Given the description of an element on the screen output the (x, y) to click on. 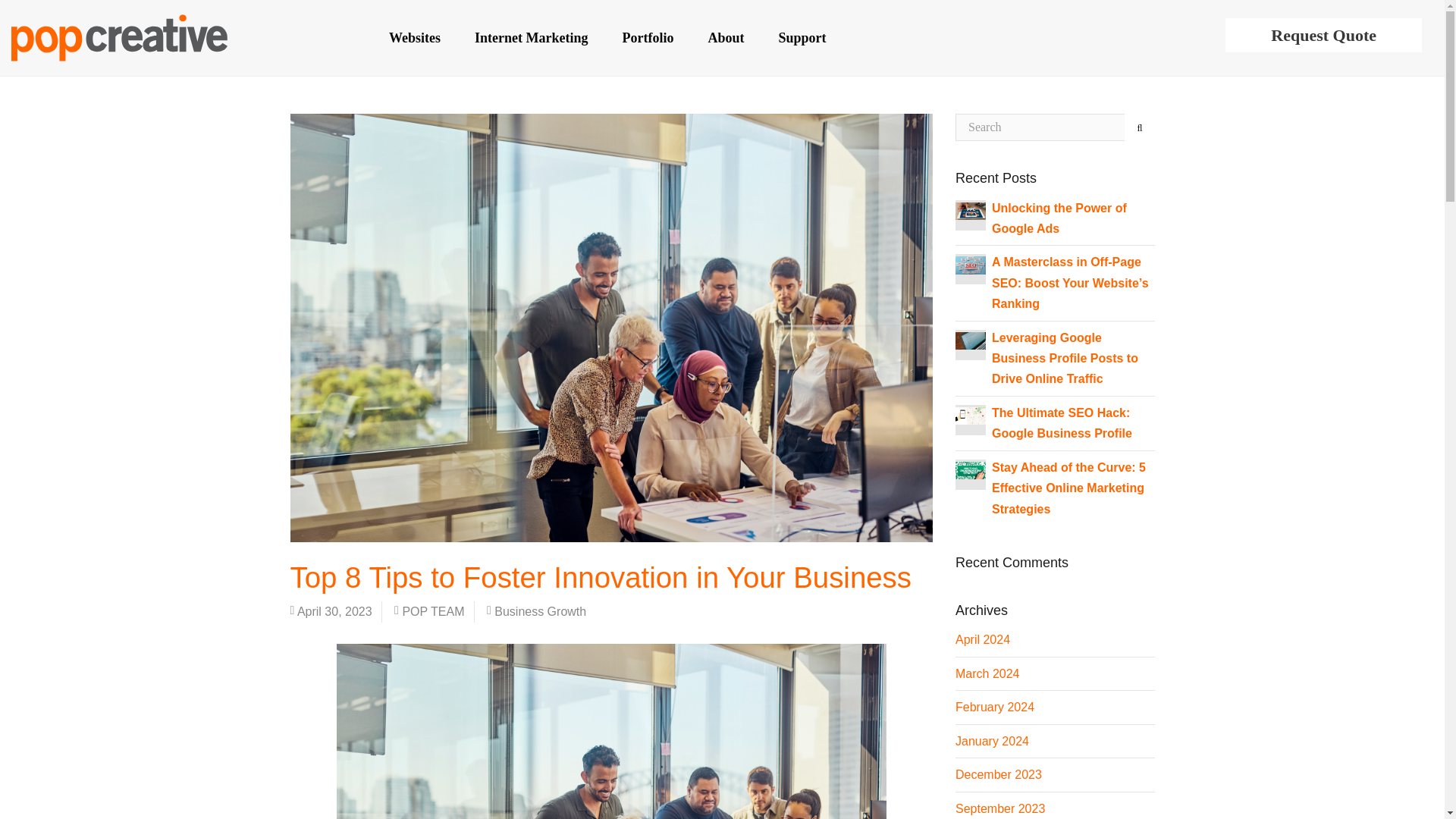
March 2024 (987, 673)
Unlocking the Power of Google Ads (1058, 218)
Internet Marketing (531, 38)
The Ultimate SEO Hack: Google Business Profile (970, 414)
Support (801, 38)
Portfolio (647, 38)
December 2023 (998, 774)
Unlocking the Power of Google Ads (1058, 218)
February 2024 (994, 707)
Search (1139, 126)
January 2024 (992, 740)
